Given the description of an element on the screen output the (x, y) to click on. 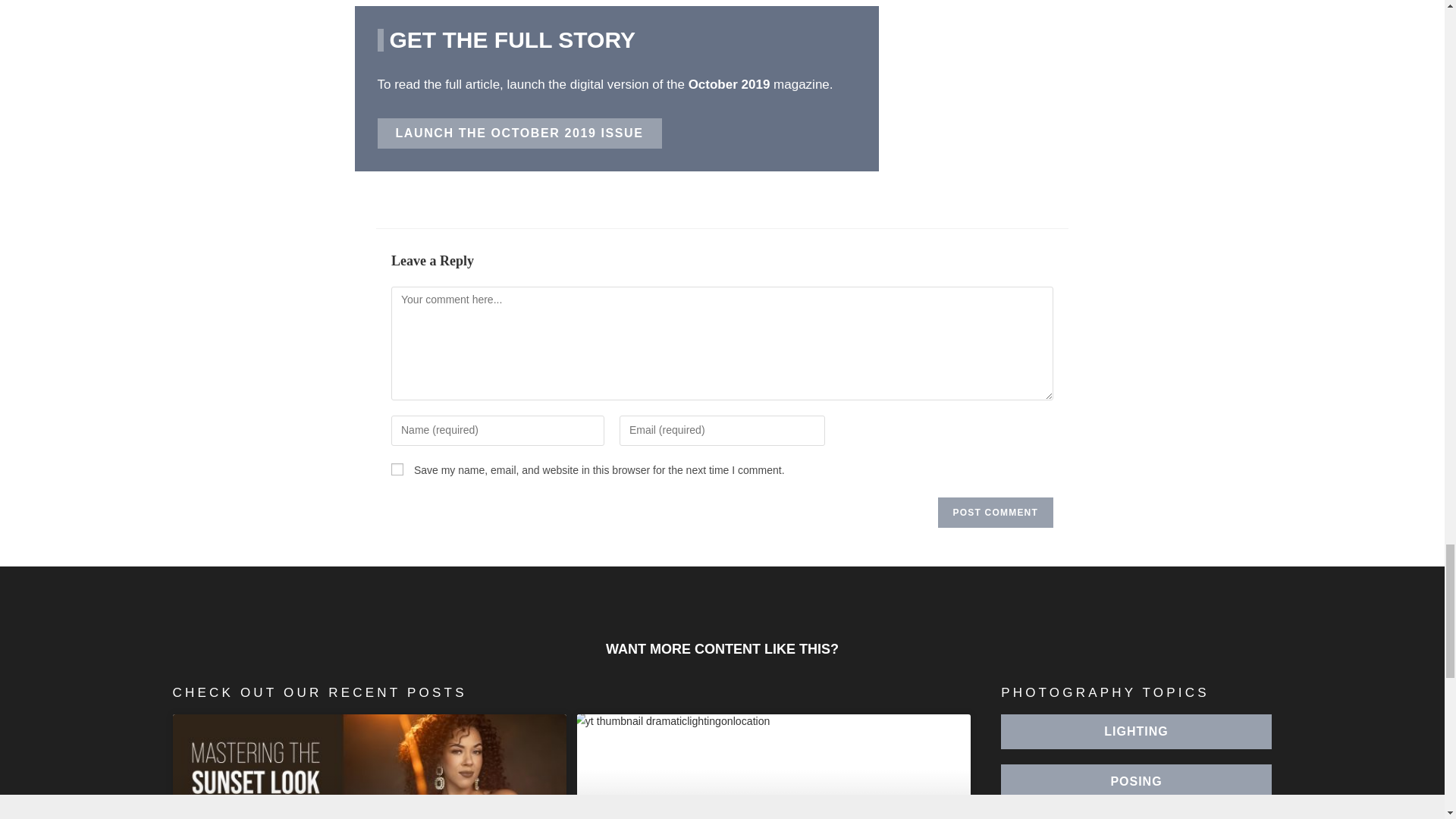
yes (397, 469)
Post Comment (994, 512)
